Given the description of an element on the screen output the (x, y) to click on. 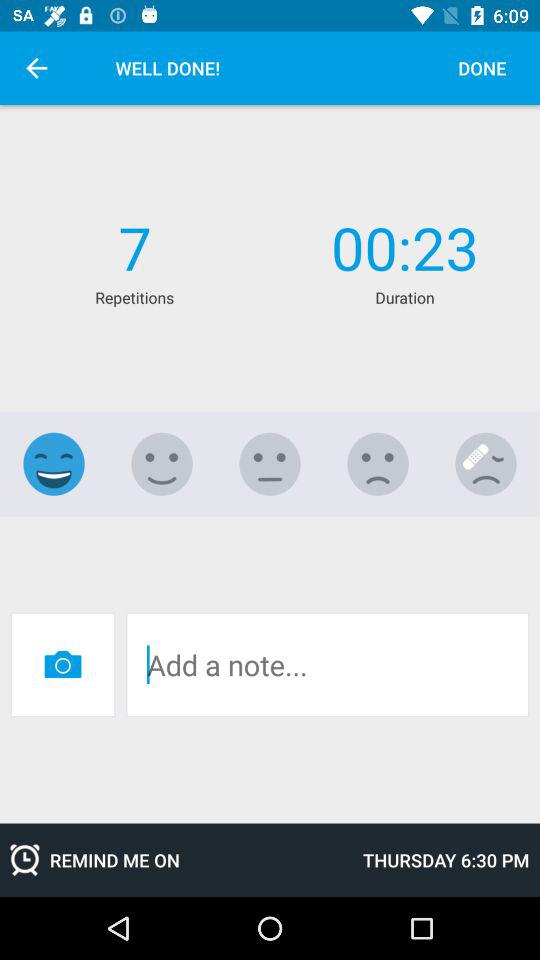
toggle emotion (54, 463)
